Given the description of an element on the screen output the (x, y) to click on. 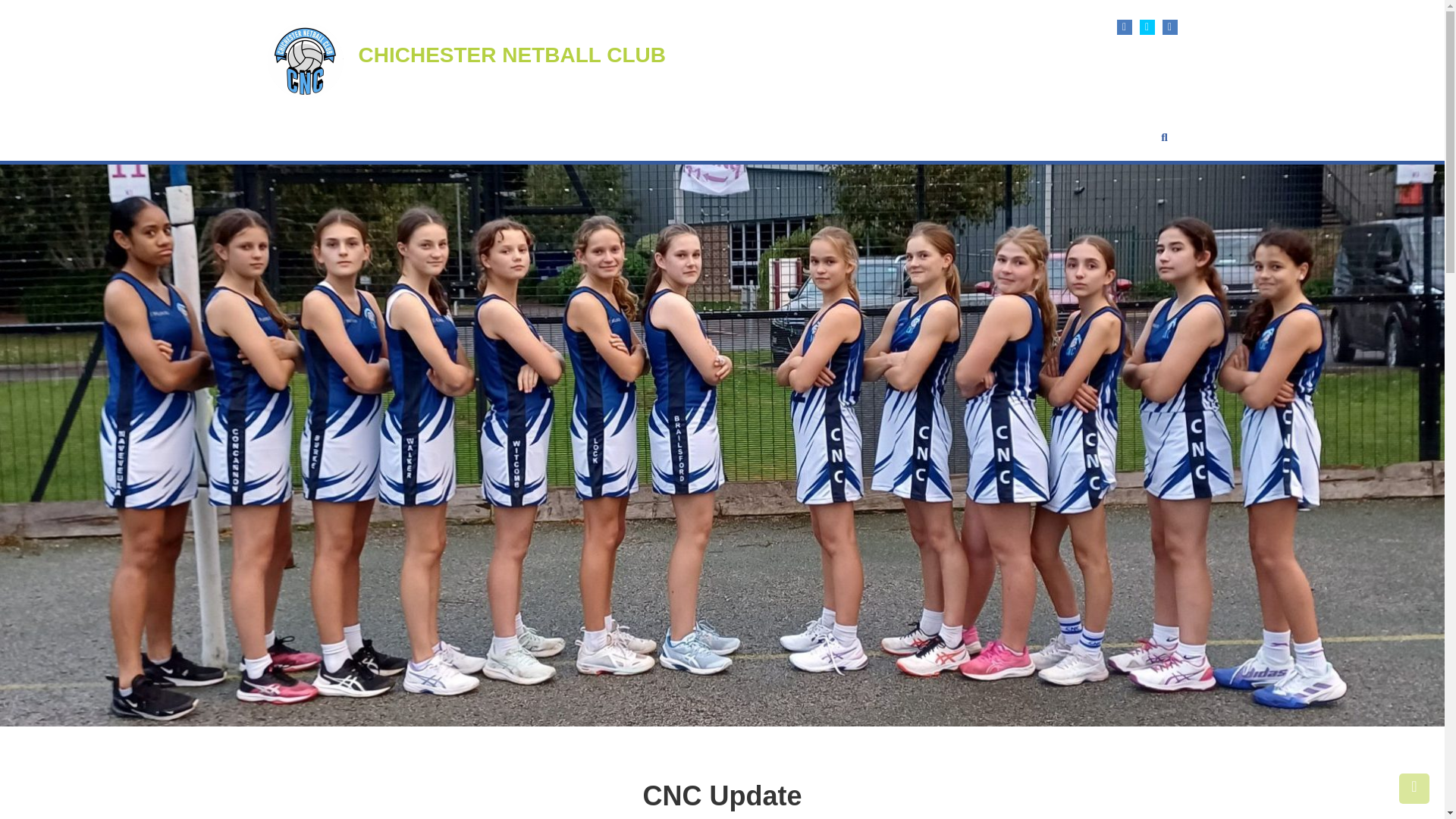
Gallery (916, 137)
The Little Hoot (843, 137)
News (773, 137)
Instagram (1168, 27)
Contact Us (1026, 137)
Sessions 2024-2025 (691, 137)
CHICHESTER NETBALL CLUB (511, 54)
Facebook (1123, 27)
Twitter (1146, 27)
Chichester Netball Club (511, 54)
Home (281, 137)
Search (825, 427)
